Given the description of an element on the screen output the (x, y) to click on. 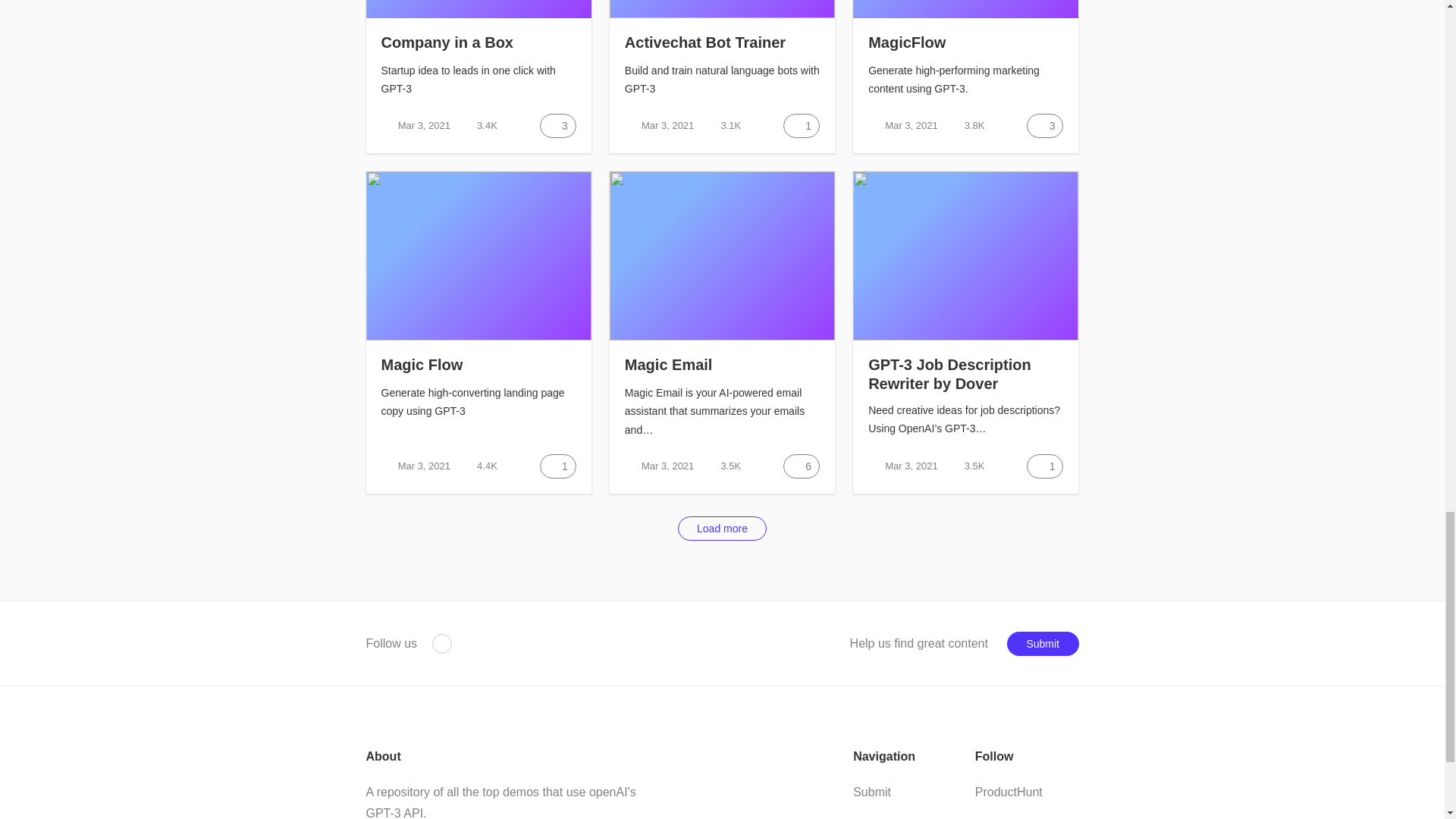
Submit (872, 792)
Submit (1042, 643)
ProductHunt (441, 643)
ProductHunt (1008, 791)
Load more (722, 528)
